Given the description of an element on the screen output the (x, y) to click on. 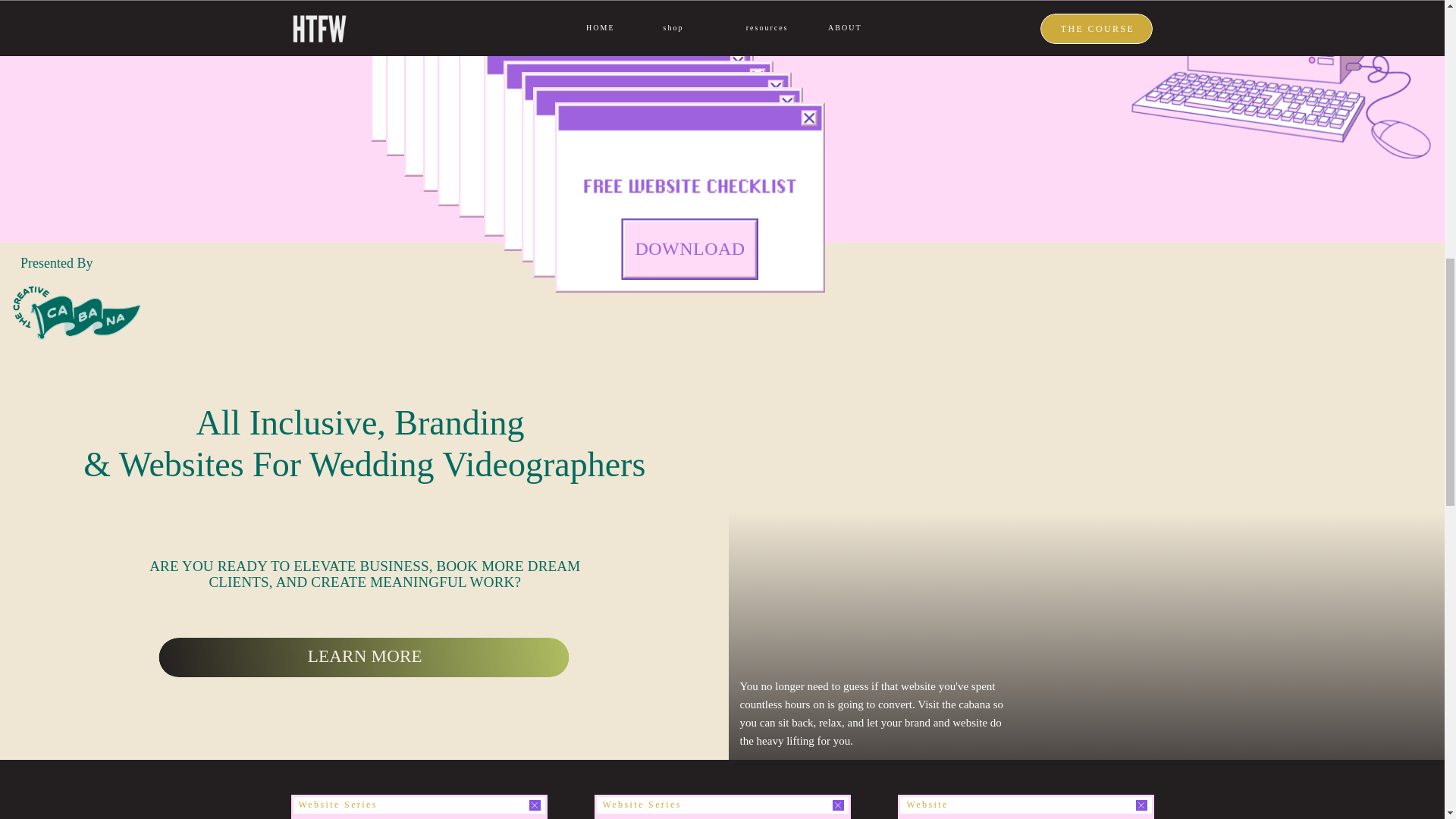
LEARN MORE (365, 654)
DOWNLOAD (689, 246)
Website Series (641, 804)
Website Series (337, 804)
Website (928, 804)
